Given the description of an element on the screen output the (x, y) to click on. 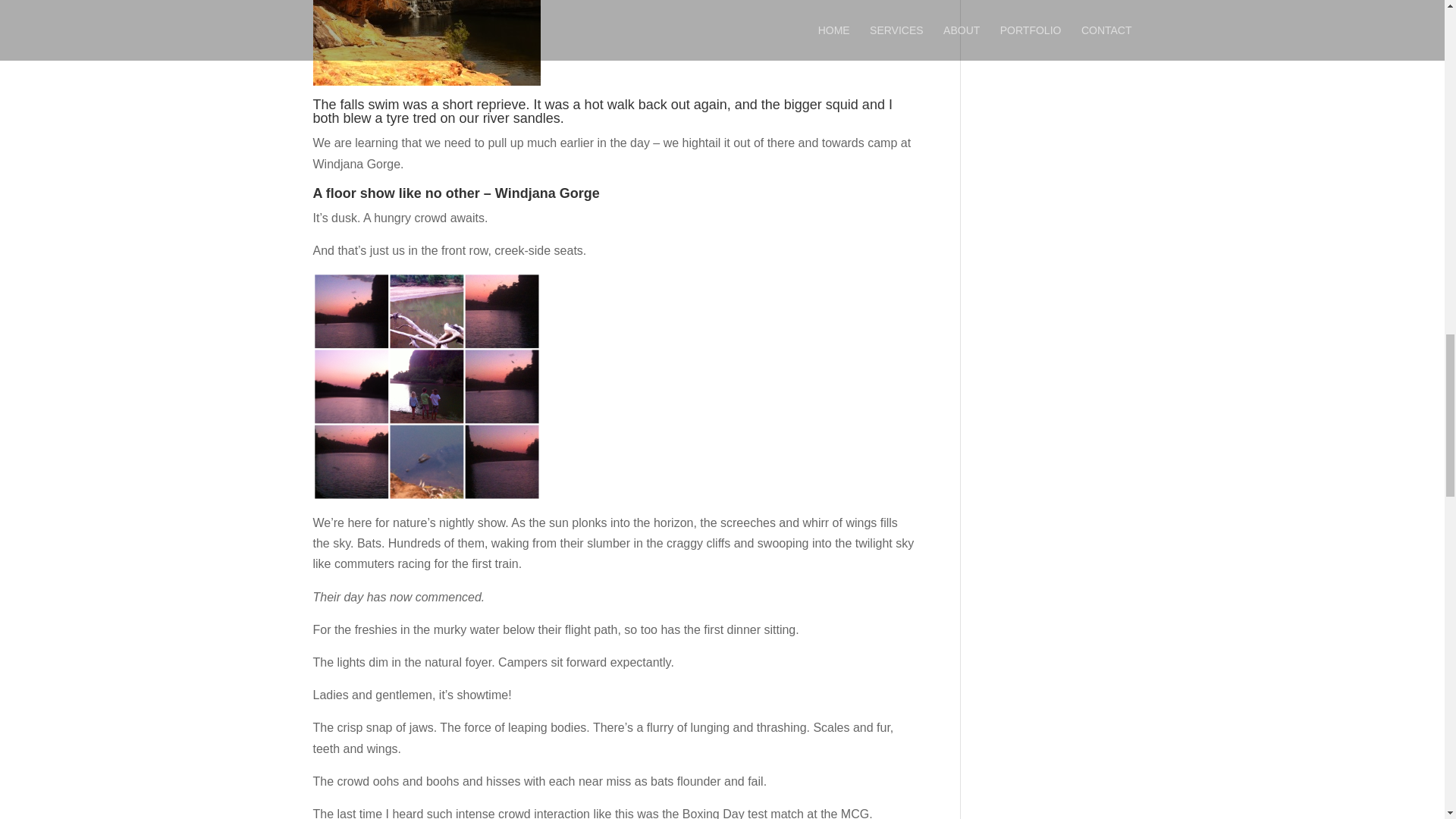
Windjana Gorge (547, 192)
